Given the description of an element on the screen output the (x, y) to click on. 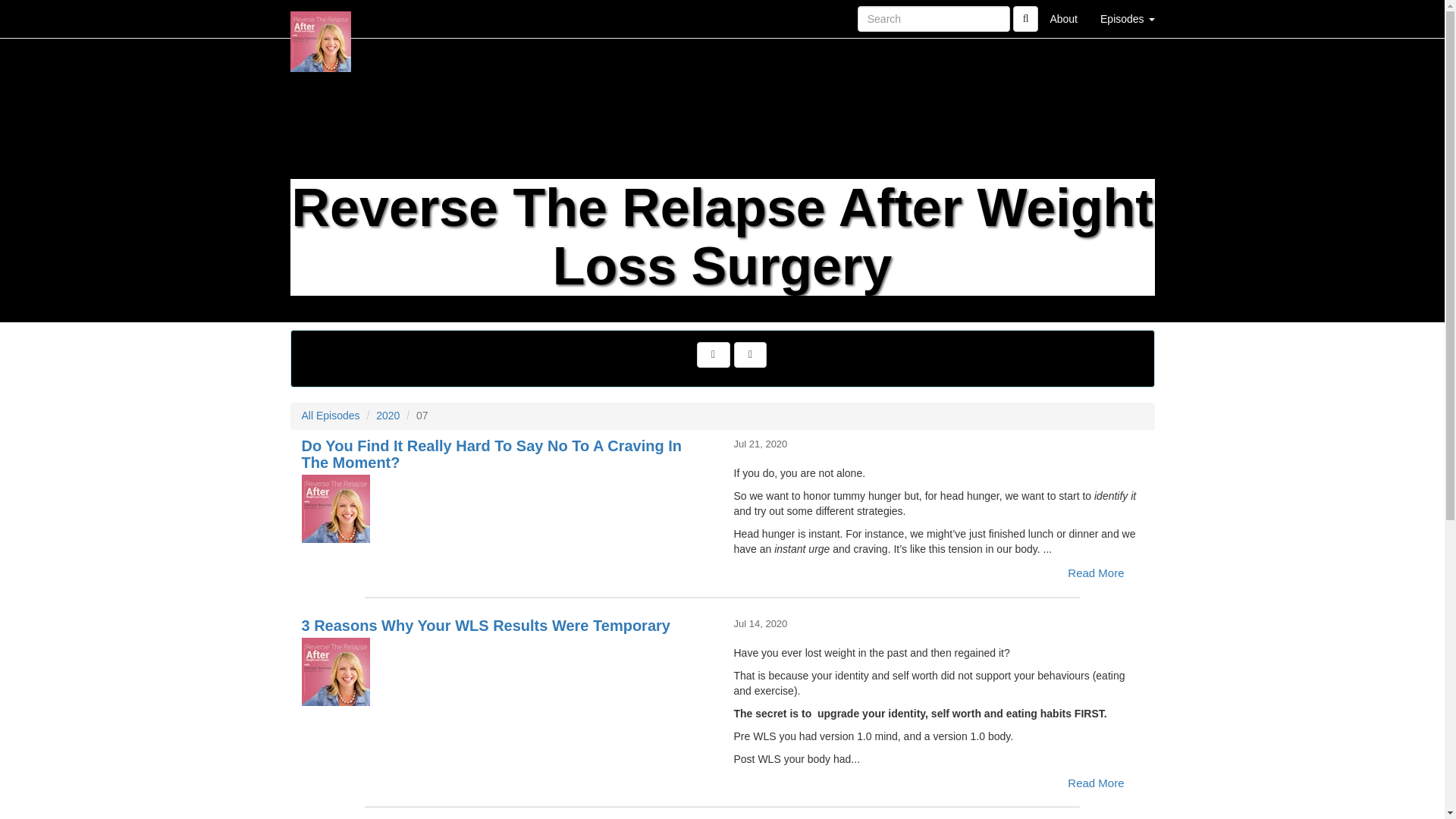
3 Reasons Why Your WLS Results Were Temporary (506, 671)
About (1063, 18)
Episodes (1127, 18)
Home Page (320, 18)
